Given the description of an element on the screen output the (x, y) to click on. 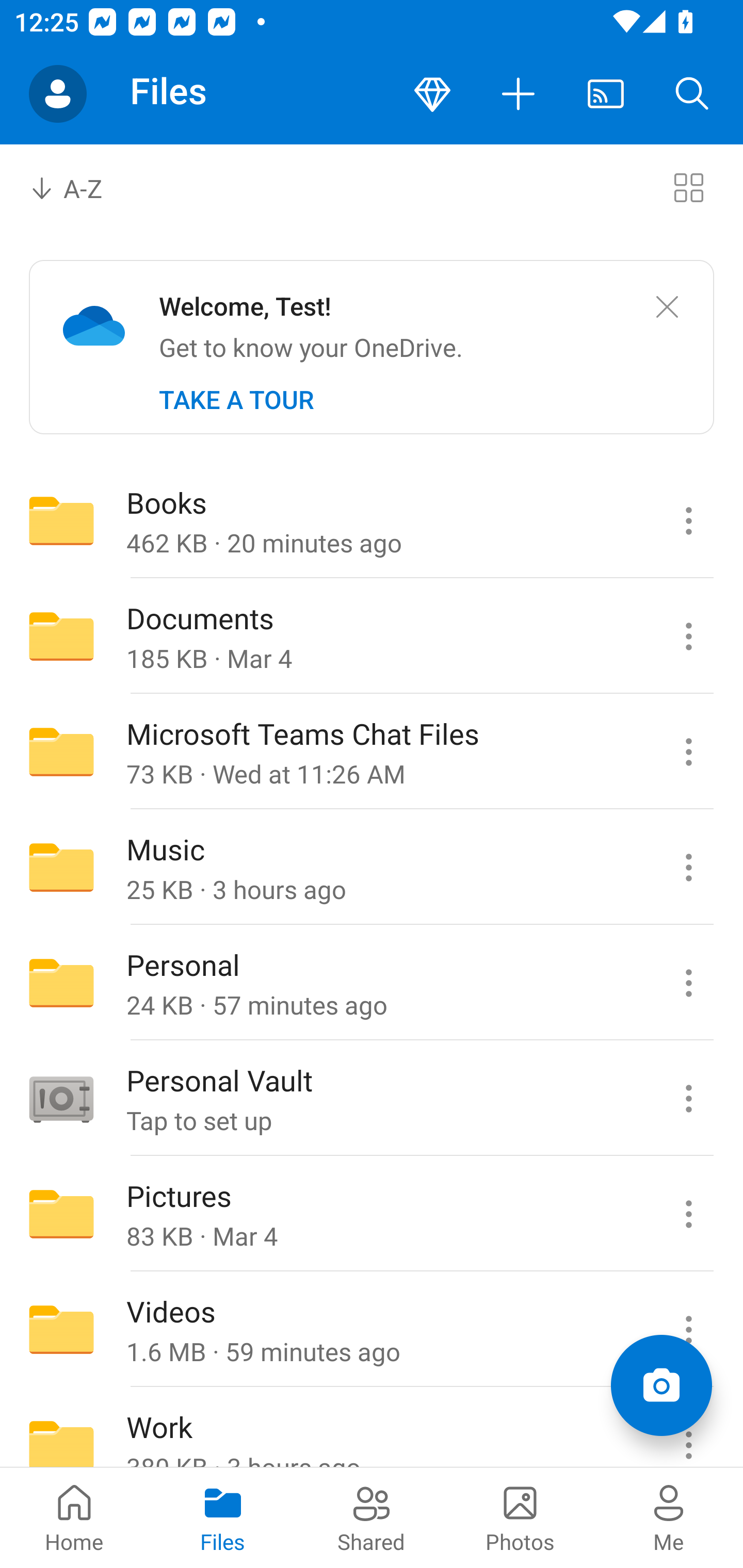
Account switcher (57, 93)
Cast. Disconnected (605, 93)
Premium button (432, 93)
More actions button (518, 93)
Search button (692, 93)
A-Z Sort by combo box, sort by name, A to Z (80, 187)
Switch to tiles view (688, 187)
Close (667, 307)
TAKE A TOUR (236, 399)
Books commands (688, 520)
Folder Documents 185 KB · Mar 4 Documents commands (371, 636)
Documents commands (688, 636)
Microsoft Teams Chat Files commands (688, 751)
Folder Music 25 KB · 3 hours ago Music commands (371, 867)
Music commands (688, 867)
Personal commands (688, 983)
Personal Vault commands (688, 1099)
Folder Pictures 83 KB · Mar 4 Pictures commands (371, 1214)
Pictures commands (688, 1214)
Videos commands (688, 1329)
Add items Scan (660, 1385)
Folder Work 380 KB · 3 hours ago Work commands (371, 1427)
Work commands (688, 1427)
Home pivot Home (74, 1517)
Shared pivot Shared (371, 1517)
Photos pivot Photos (519, 1517)
Me pivot Me (668, 1517)
